Given the description of an element on the screen output the (x, y) to click on. 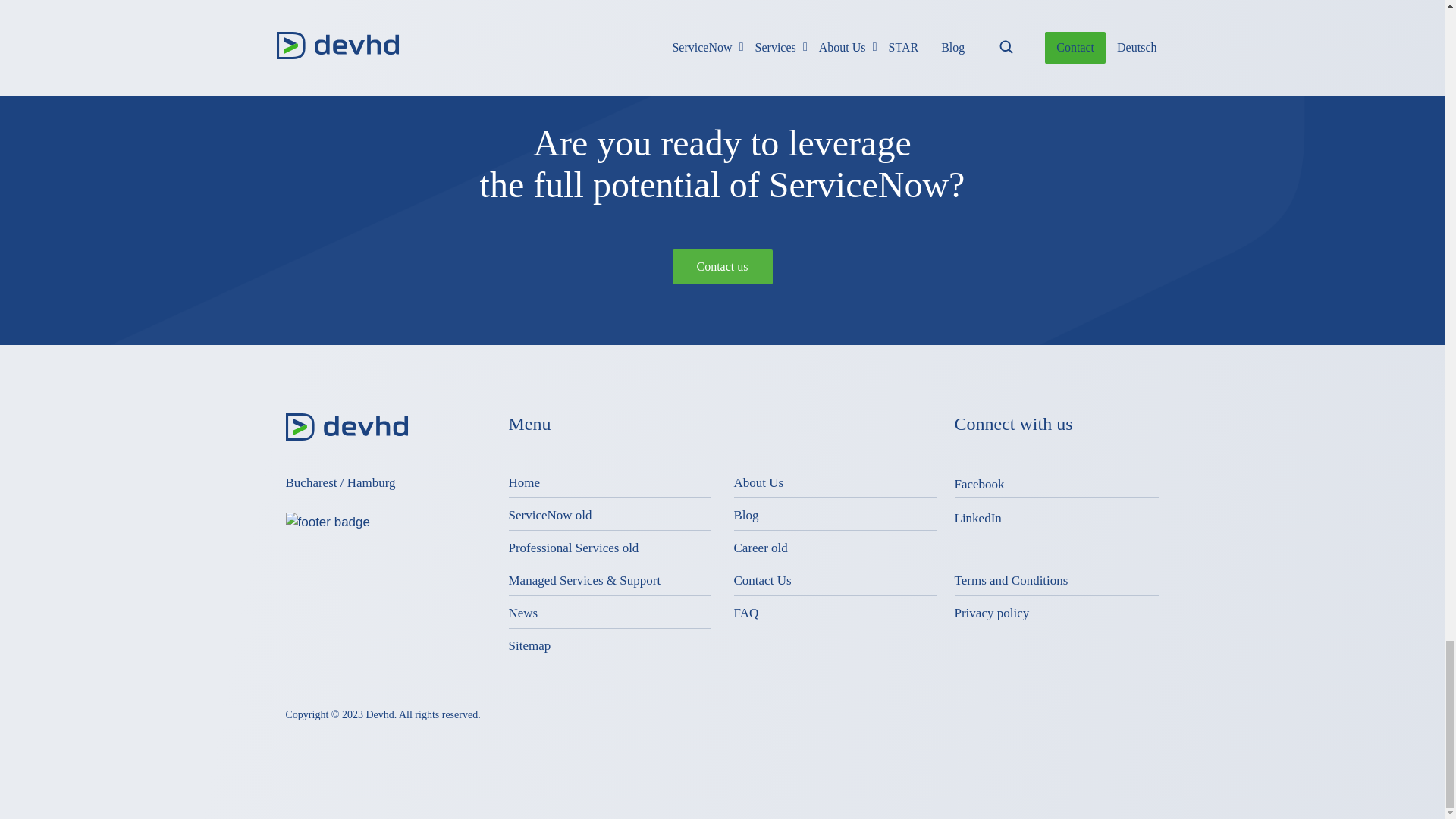
ServiceNow old (549, 514)
News (522, 612)
Home (524, 482)
Professional Services old (573, 547)
Contact us (721, 266)
